Given the description of an element on the screen output the (x, y) to click on. 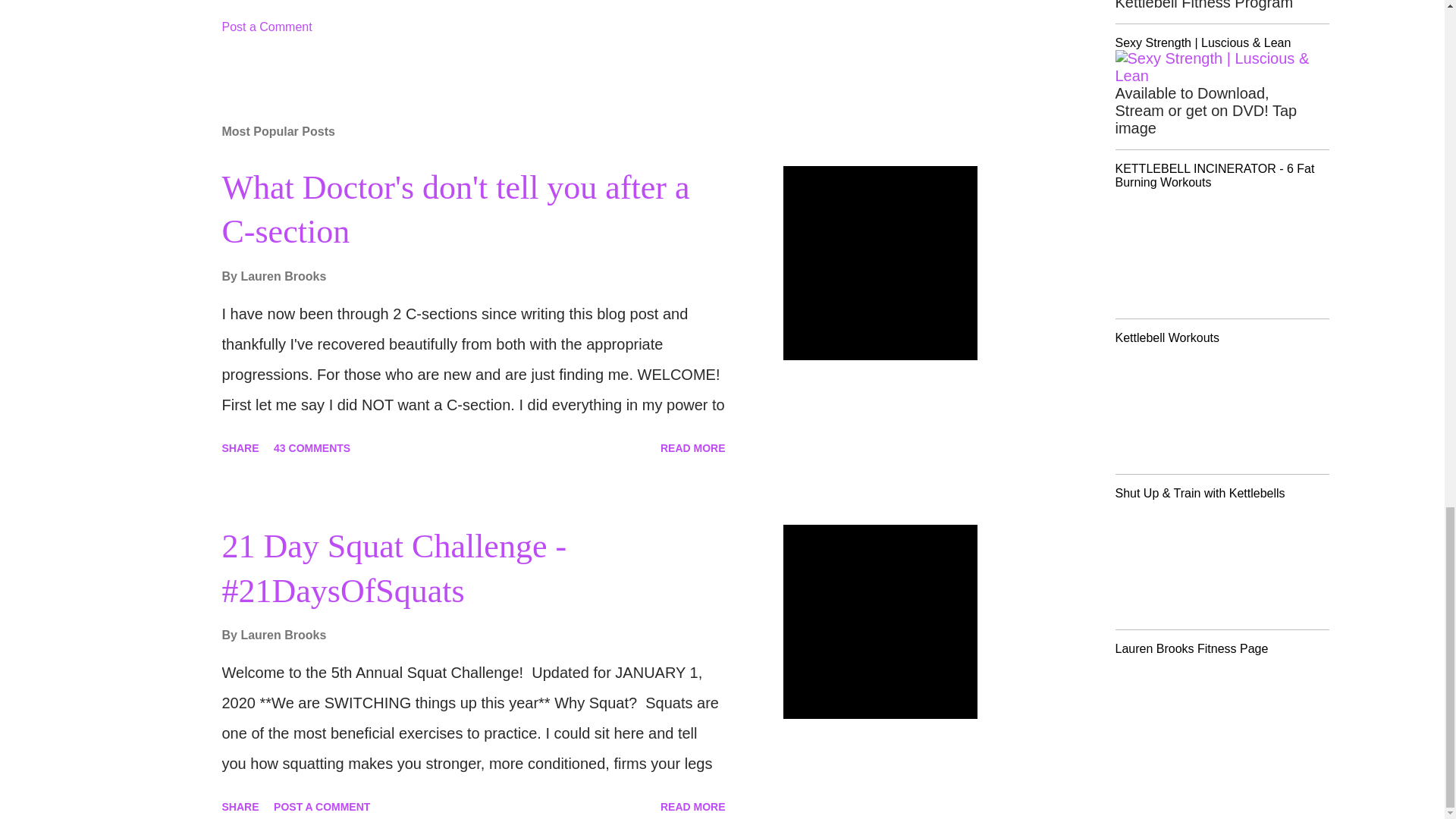
43 COMMENTS (311, 447)
author profile (283, 276)
Lauren Brooks (283, 276)
What Doctor's don't tell you after a C-section (454, 209)
READ MORE (692, 447)
Lauren Brooks (283, 634)
SHARE (239, 447)
Post a Comment (266, 26)
